Given the description of an element on the screen output the (x, y) to click on. 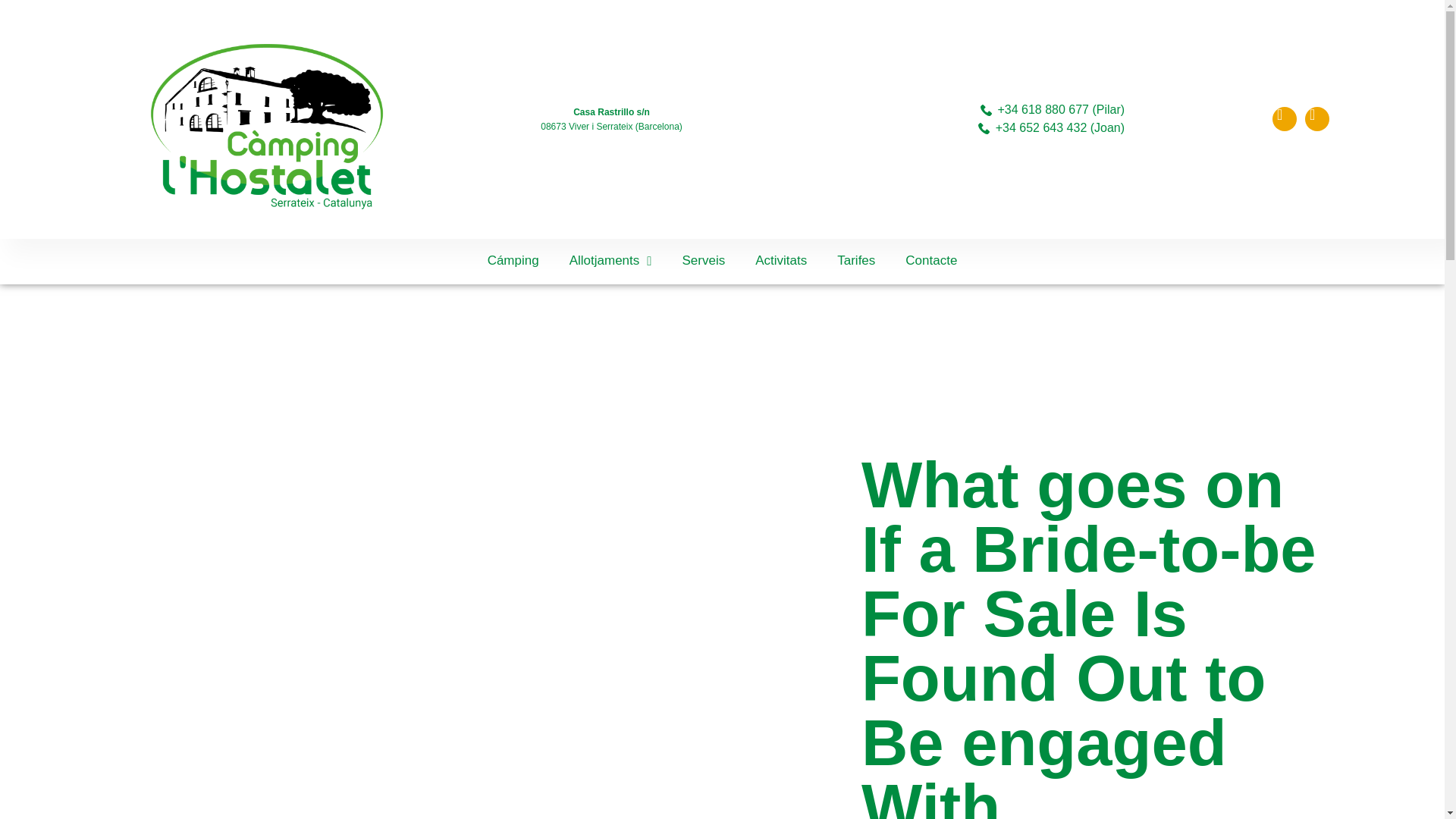
Tarifes (855, 260)
Contacte (930, 260)
Activitats (780, 260)
Serveis (703, 260)
Allotjaments (610, 260)
